Given the description of an element on the screen output the (x, y) to click on. 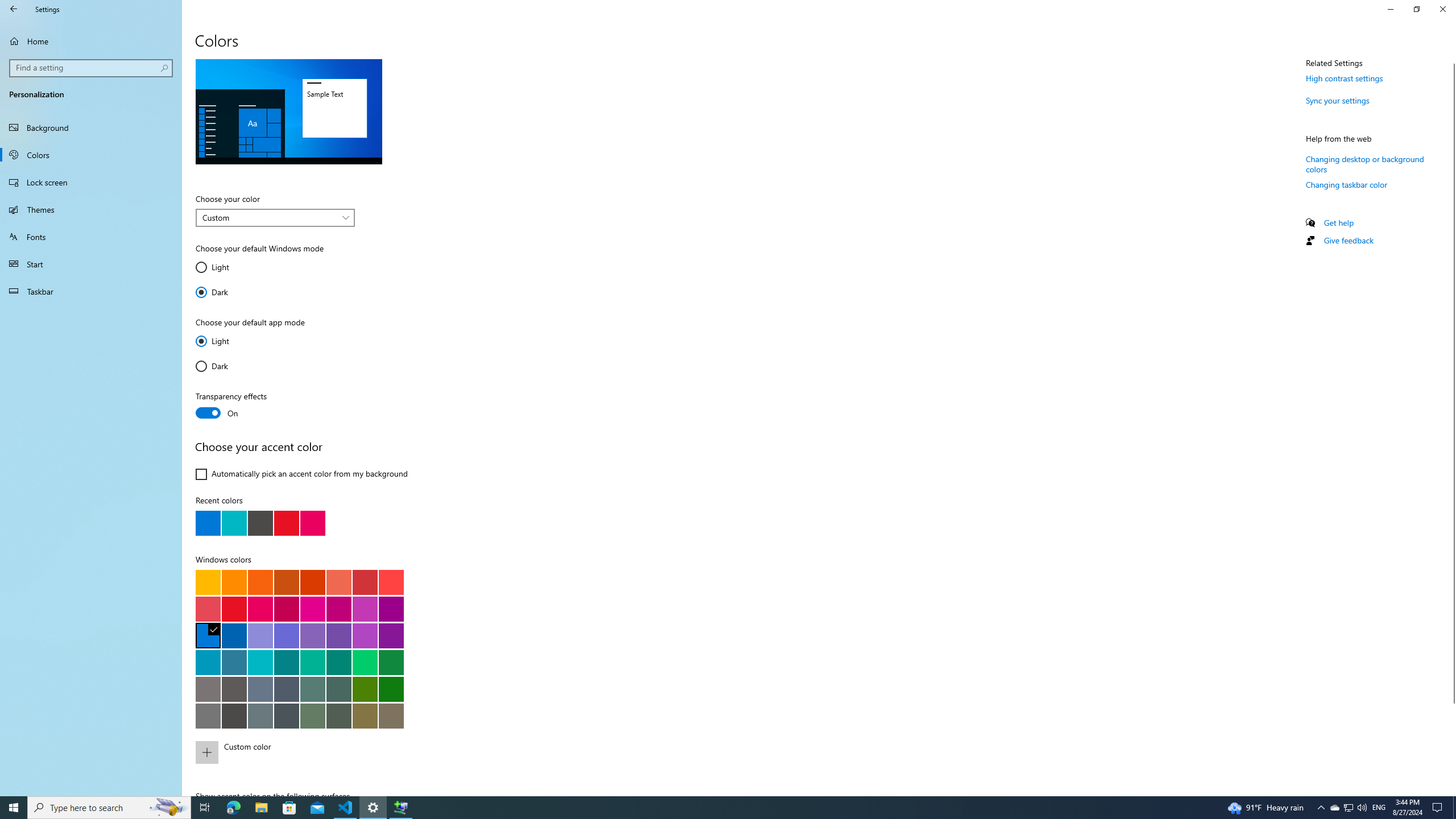
Vertical Small Decrease (1451, 58)
Transparency effects (237, 405)
Sync your settings (1338, 100)
Dark (229, 366)
Themes (91, 208)
Pale moss (311, 688)
Mint dark (338, 661)
Custom color (319, 752)
Navy blue (234, 635)
